Given the description of an element on the screen output the (x, y) to click on. 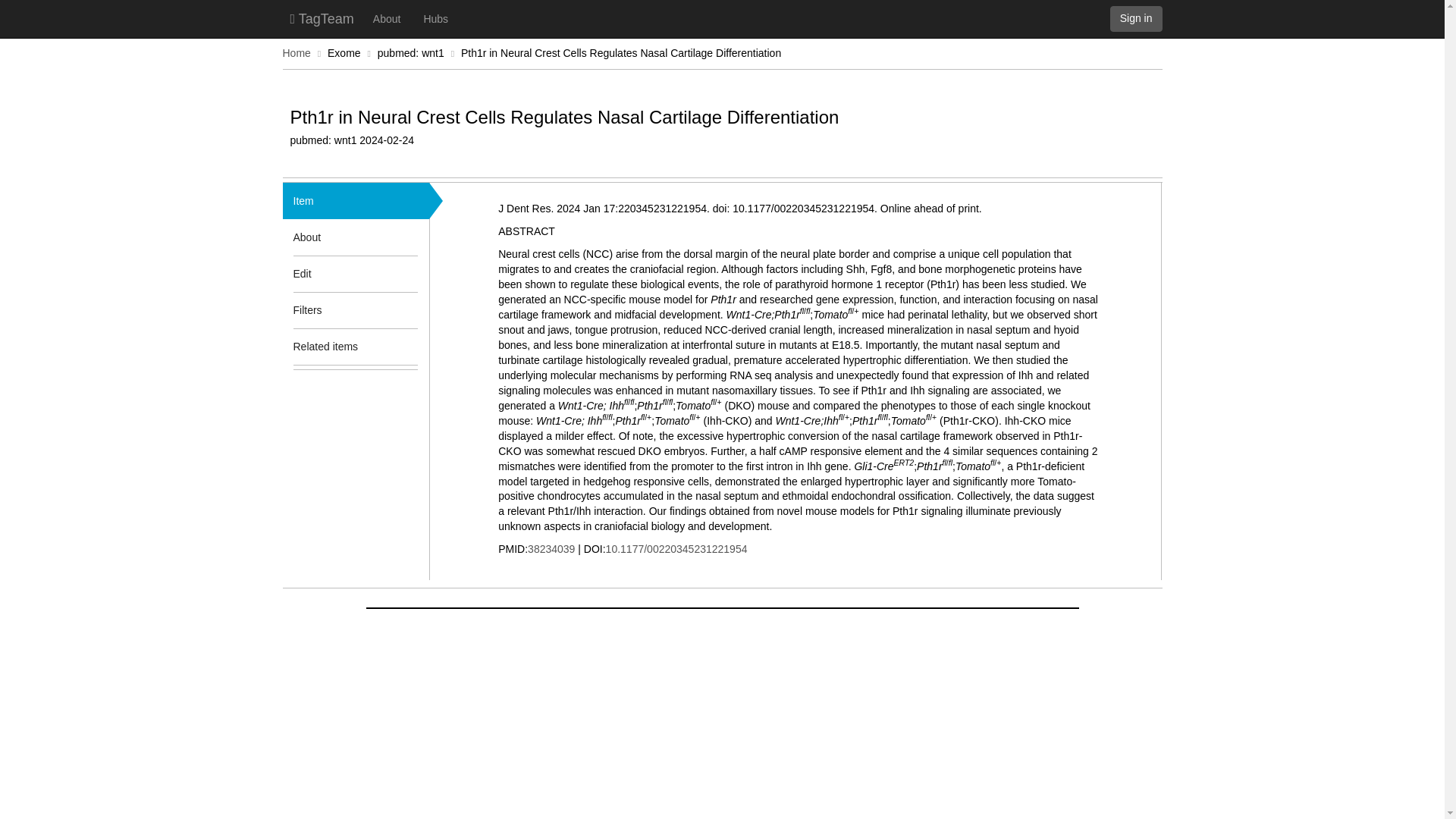
TagTeam (321, 18)
38234039 (551, 548)
Home (296, 52)
Edit (301, 273)
Hubs (436, 18)
Sign in (1135, 18)
Filters (333, 309)
Item (302, 200)
pubmed: wnt1 (410, 52)
About (386, 18)
Items related to this feed item (407, 346)
Exome (344, 52)
About (333, 237)
Item-level tag filters (407, 309)
